Given the description of an element on the screen output the (x, y) to click on. 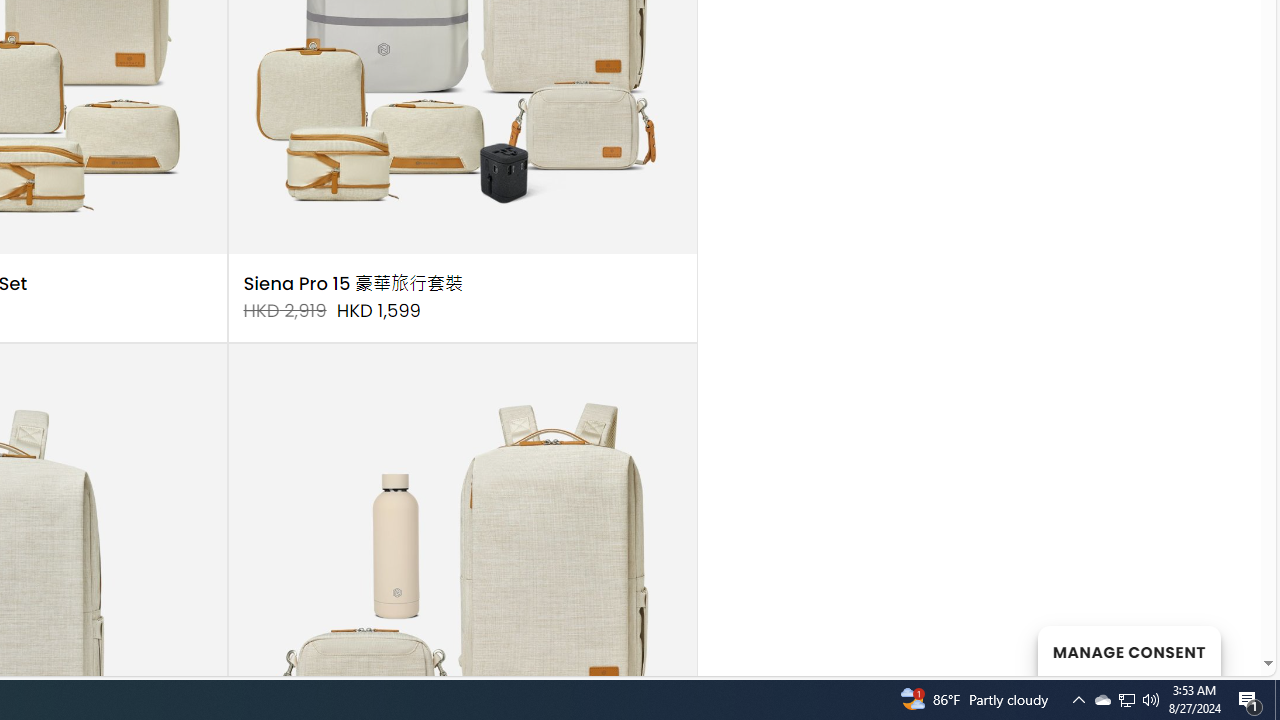
MANAGE CONSENT (1128, 650)
